Given the description of an element on the screen output the (x, y) to click on. 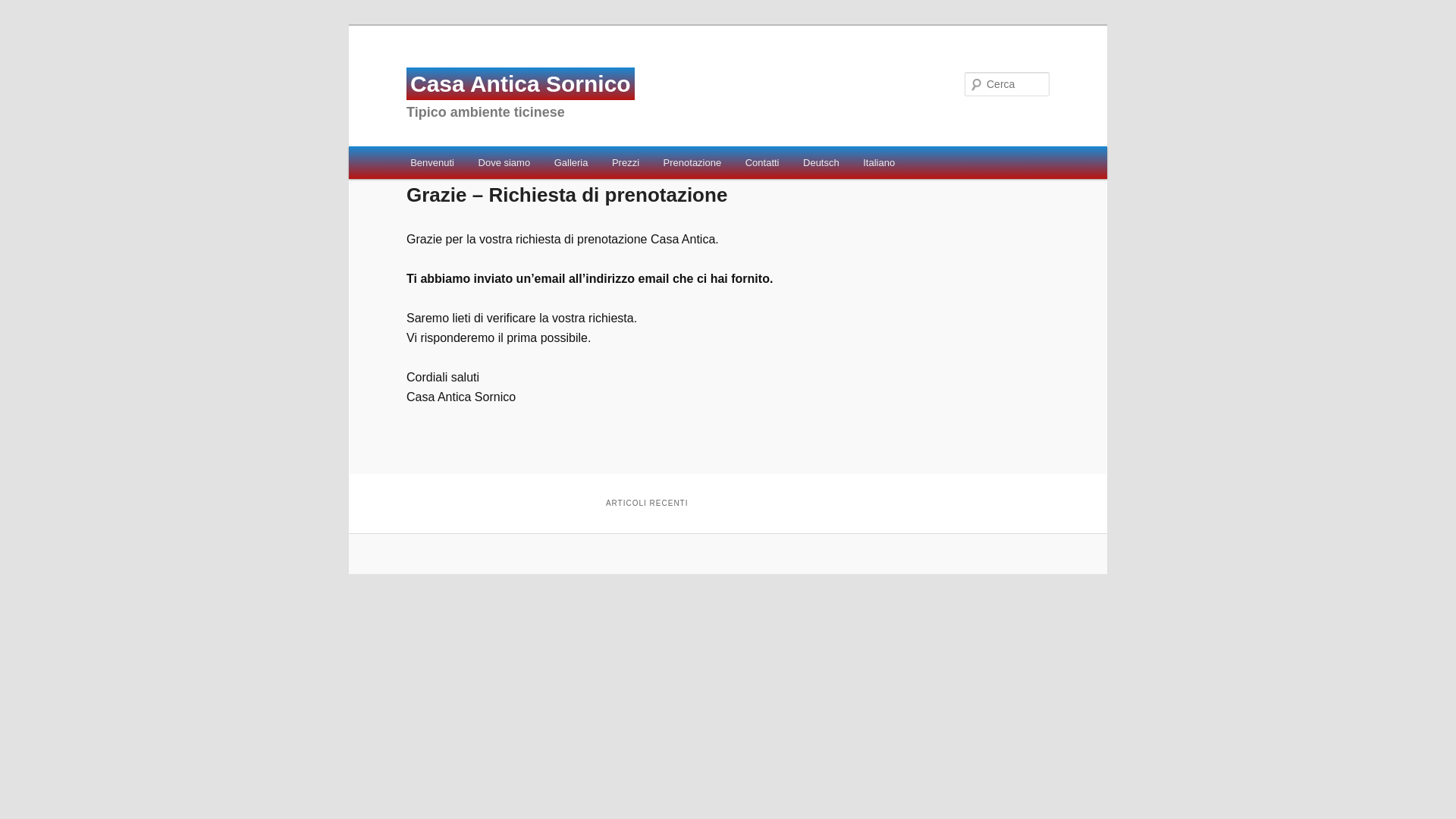
Cerca Element type: text (56, 12)
Italiano Element type: text (878, 162)
Dove siamo Element type: text (504, 162)
Deutsch Element type: text (820, 162)
Vai al contenuto principale Element type: text (24, 24)
Galleria Element type: text (570, 162)
Casa Antica Sornico Element type: text (520, 82)
Prezzi Element type: text (625, 162)
Prenotazione Element type: text (692, 162)
Benvenuti Element type: text (431, 162)
Contatti Element type: text (761, 162)
